Given the description of an element on the screen output the (x, y) to click on. 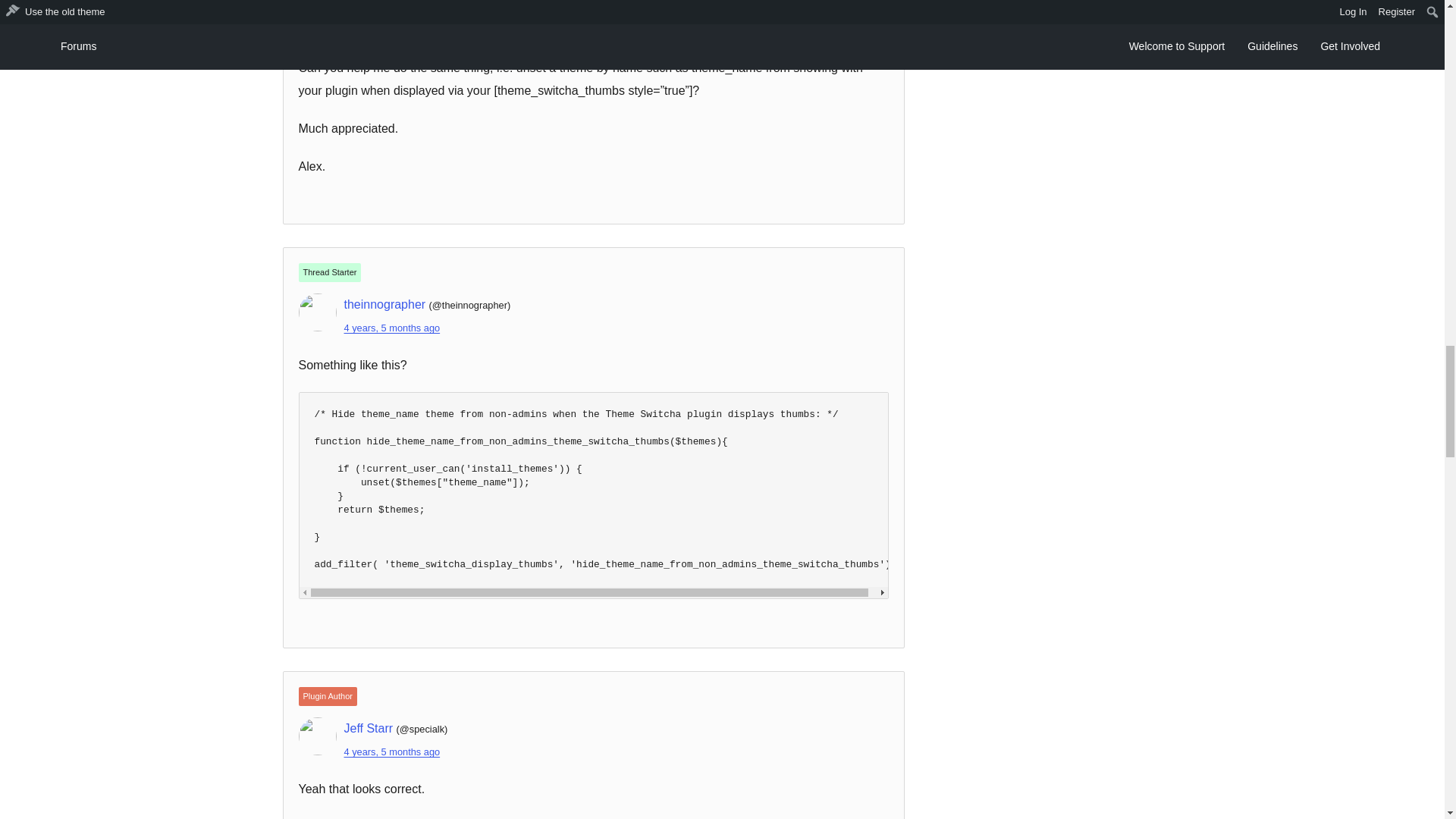
This person created the thread (329, 271)
View theinnographer's profile (384, 304)
